Given the description of an element on the screen output the (x, y) to click on. 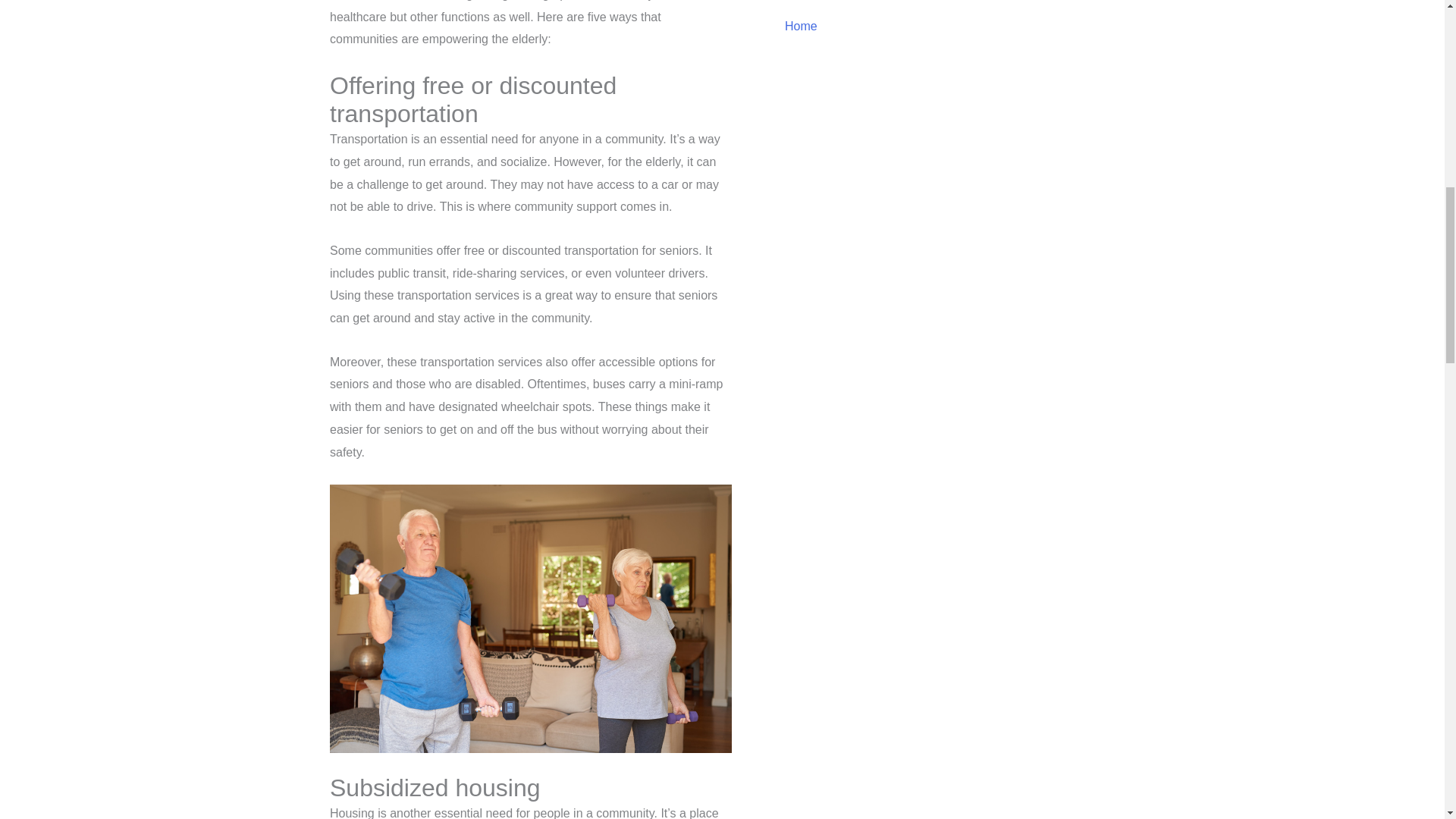
Uncategorized (963, 4)
Old couple (531, 618)
Home (963, 26)
